Given the description of an element on the screen output the (x, y) to click on. 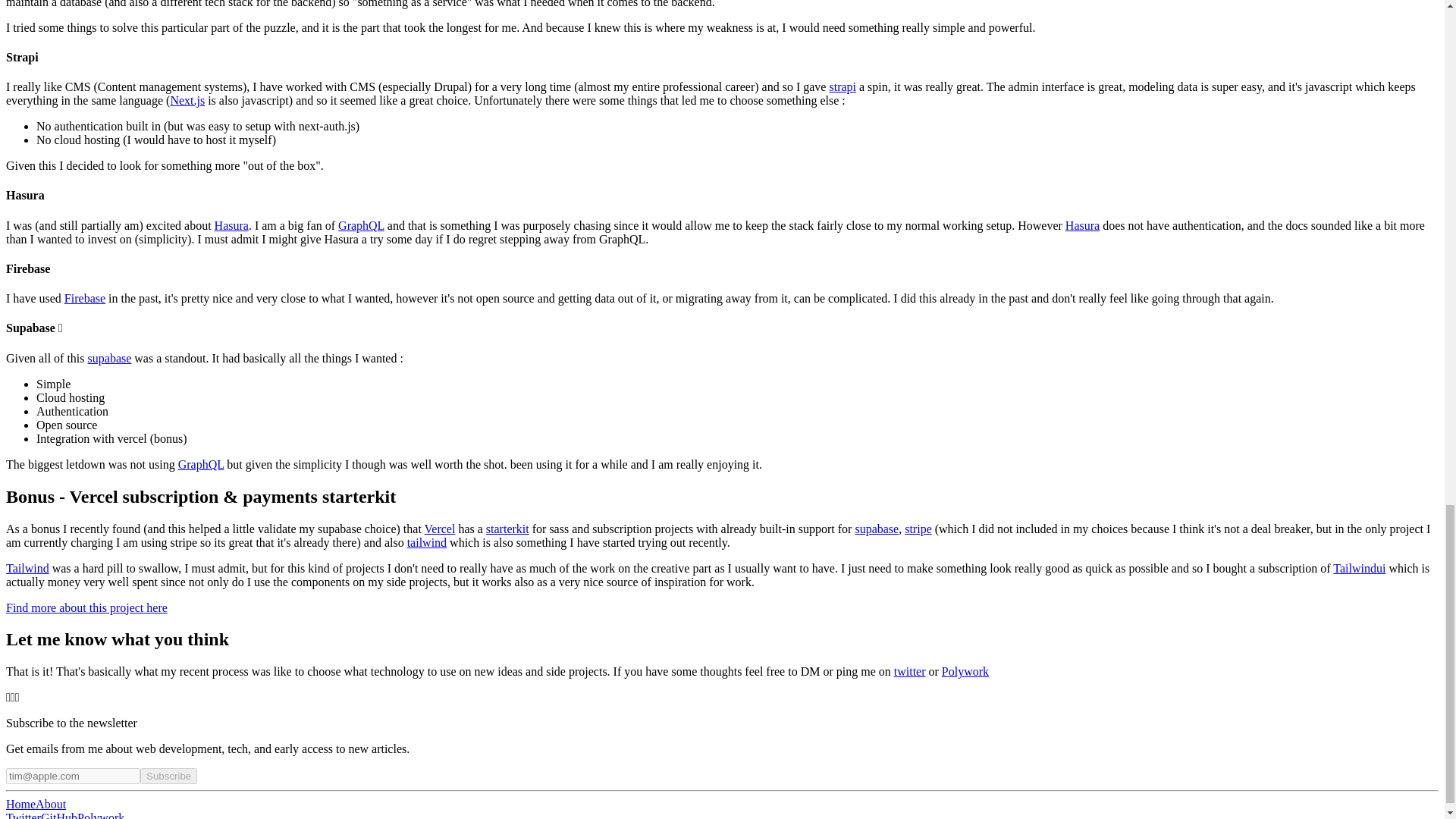
GraphQL (360, 225)
strapi (842, 86)
Next.js (187, 100)
Hasura (231, 225)
supabase (109, 358)
Hasura (1082, 225)
Firebase (84, 297)
